Given the description of an element on the screen output the (x, y) to click on. 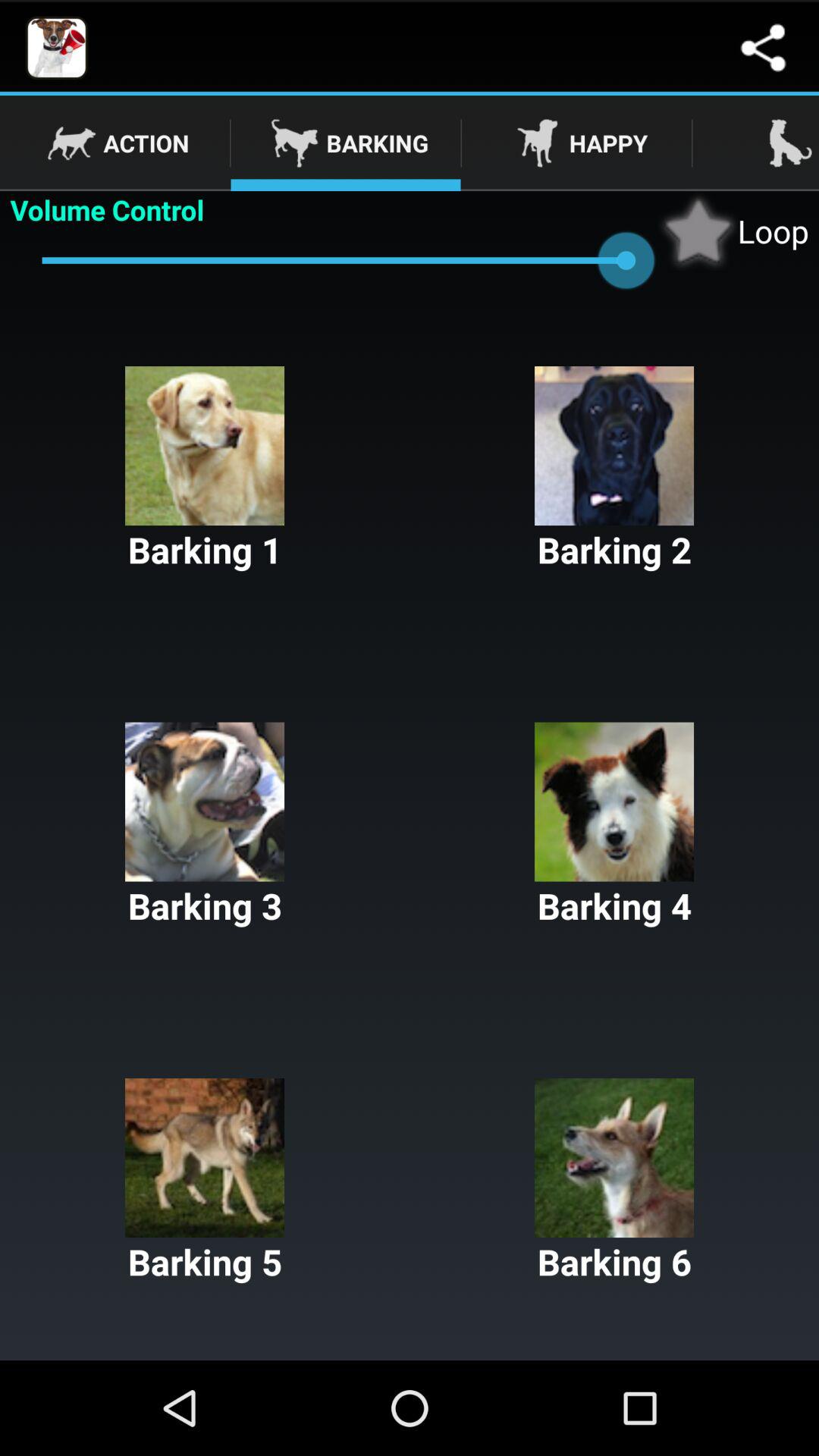
swipe until the barking 3 icon (204, 825)
